Given the description of an element on the screen output the (x, y) to click on. 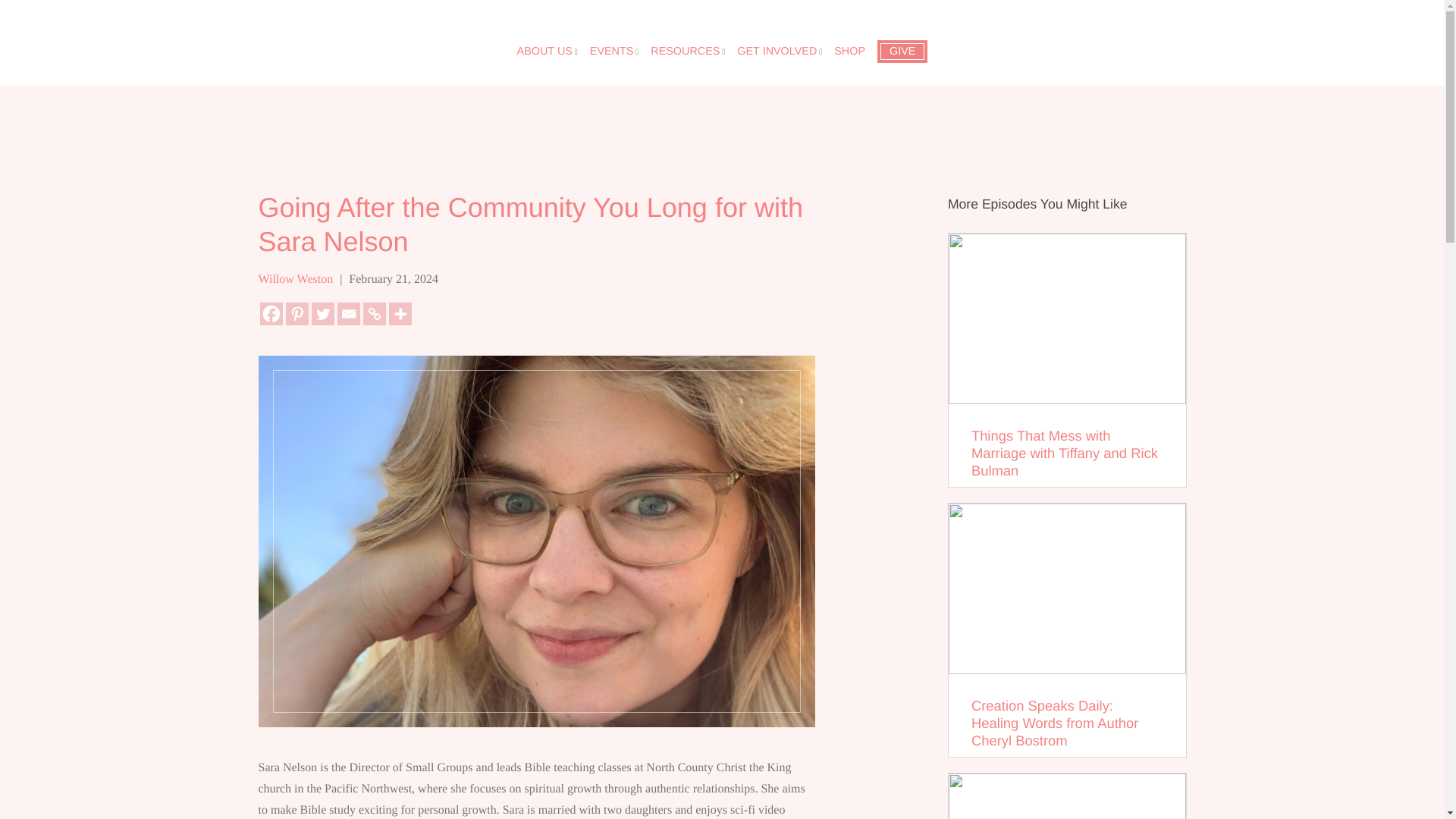
Going After the Community You Long for with Sara Nelson (535, 224)
RESOURCES (684, 51)
Things That Mess with Marriage with Tiffany and Rick Bulman (1066, 359)
Collide (85, 26)
Copy Link (373, 313)
Posts by Willow Weston (295, 278)
ABOUT US (544, 51)
Pinterest (296, 313)
More (399, 313)
Facebook (270, 313)
Twitter (322, 313)
EVENTS (611, 51)
